Given the description of an element on the screen output the (x, y) to click on. 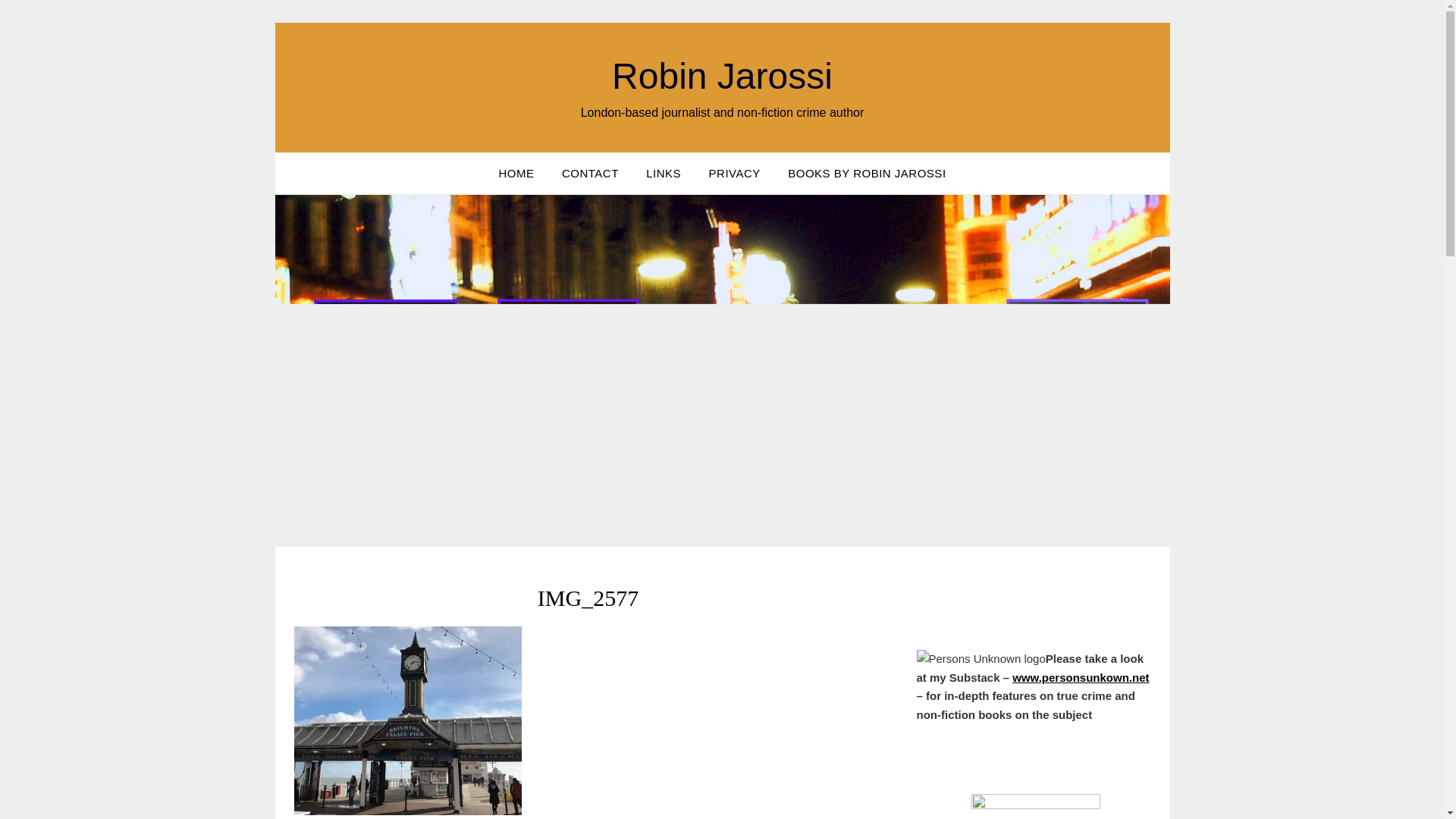
BOOKS BY ROBIN JAROSSI (867, 173)
LINKS (663, 173)
www.personsunkown.net (1079, 676)
HOME (516, 173)
Robin Jarossi (721, 76)
PRIVACY (735, 173)
CONTACT (590, 173)
